Given the description of an element on the screen output the (x, y) to click on. 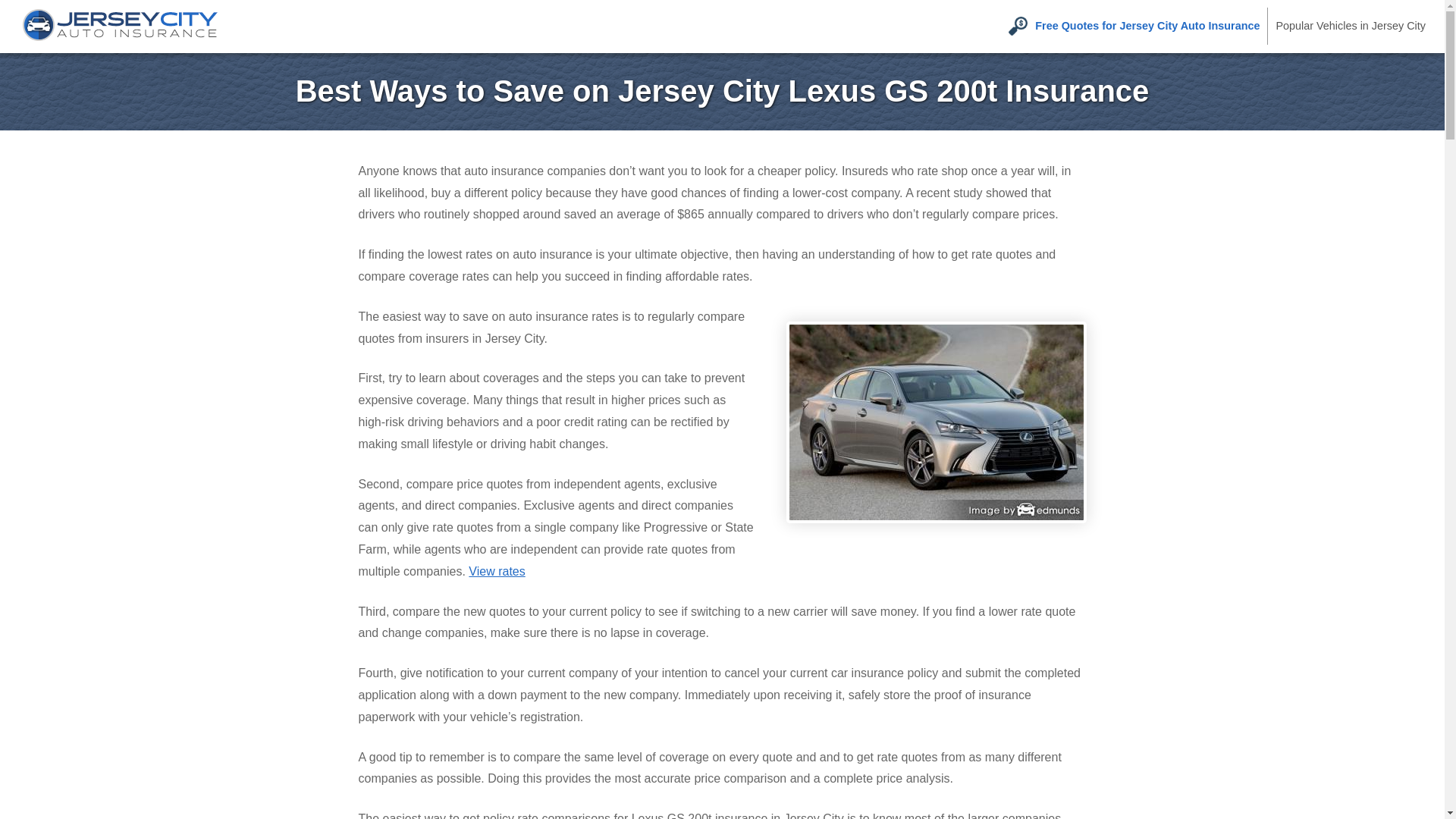
Popular Vehicles in Jersey City (1349, 26)
Free Quotes for Jersey City Auto Insurance (1132, 26)
View rates (496, 571)
